Given the description of an element on the screen output the (x, y) to click on. 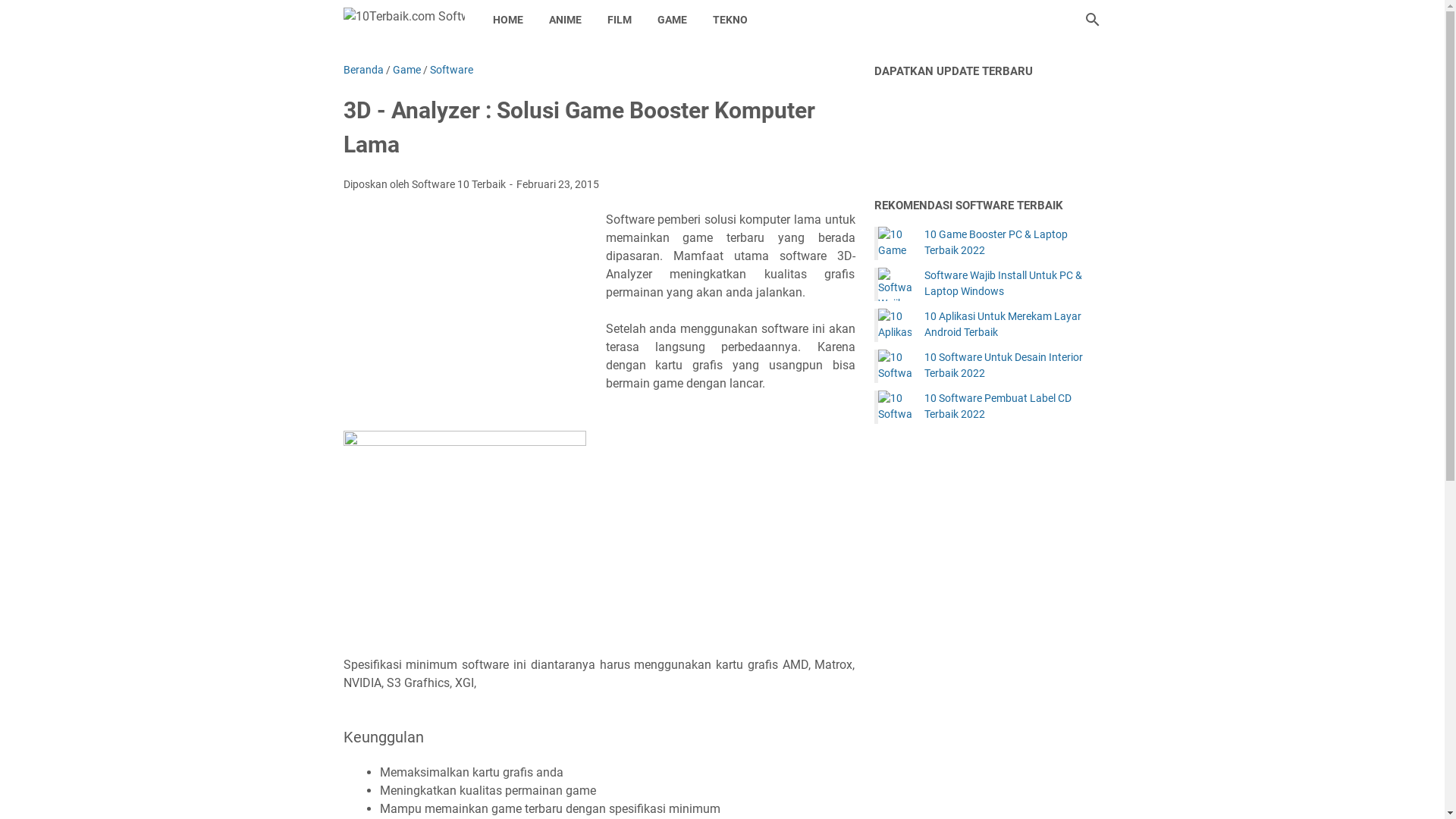
FILM Element type: text (619, 19)
Software Wajib Install Untuk PC & Laptop Windows Element type: text (1012, 283)
10 Aplikasi Untuk Merekam Layar Android Terbaik Element type: hover (894, 325)
10 Software Untuk Desain Interior Terbaik 2022 Element type: text (1012, 365)
10 Software Pembuat Label CD Terbaik 2022 Element type: hover (894, 406)
Cari blog ini Element type: hover (1091, 19)
10 Software Pembuat Label CD Terbaik 2022 Element type: text (1012, 406)
10 Aplikasi Untuk Merekam Layar Android Terbaik Element type: text (1012, 324)
ANIME Element type: text (564, 19)
Software Element type: text (450, 69)
HOME Element type: text (507, 19)
GAME Element type: text (671, 19)
10 Game Booster PC & Laptop Terbaik 2022 Element type: hover (894, 243)
10 Software Untuk Desain Interior Terbaik 2022 Element type: hover (894, 365)
Advertisement Element type: hover (474, 320)
Software Wajib Install Untuk PC & Laptop Windows Element type: hover (894, 284)
10 Game Booster PC & Laptop Terbaik 2022 Element type: text (1012, 242)
Game Element type: text (406, 69)
TEKNO Element type: text (729, 19)
Beranda Element type: text (362, 69)
10Terbaik.com Software Element type: hover (403, 19)
